Given the description of an element on the screen output the (x, y) to click on. 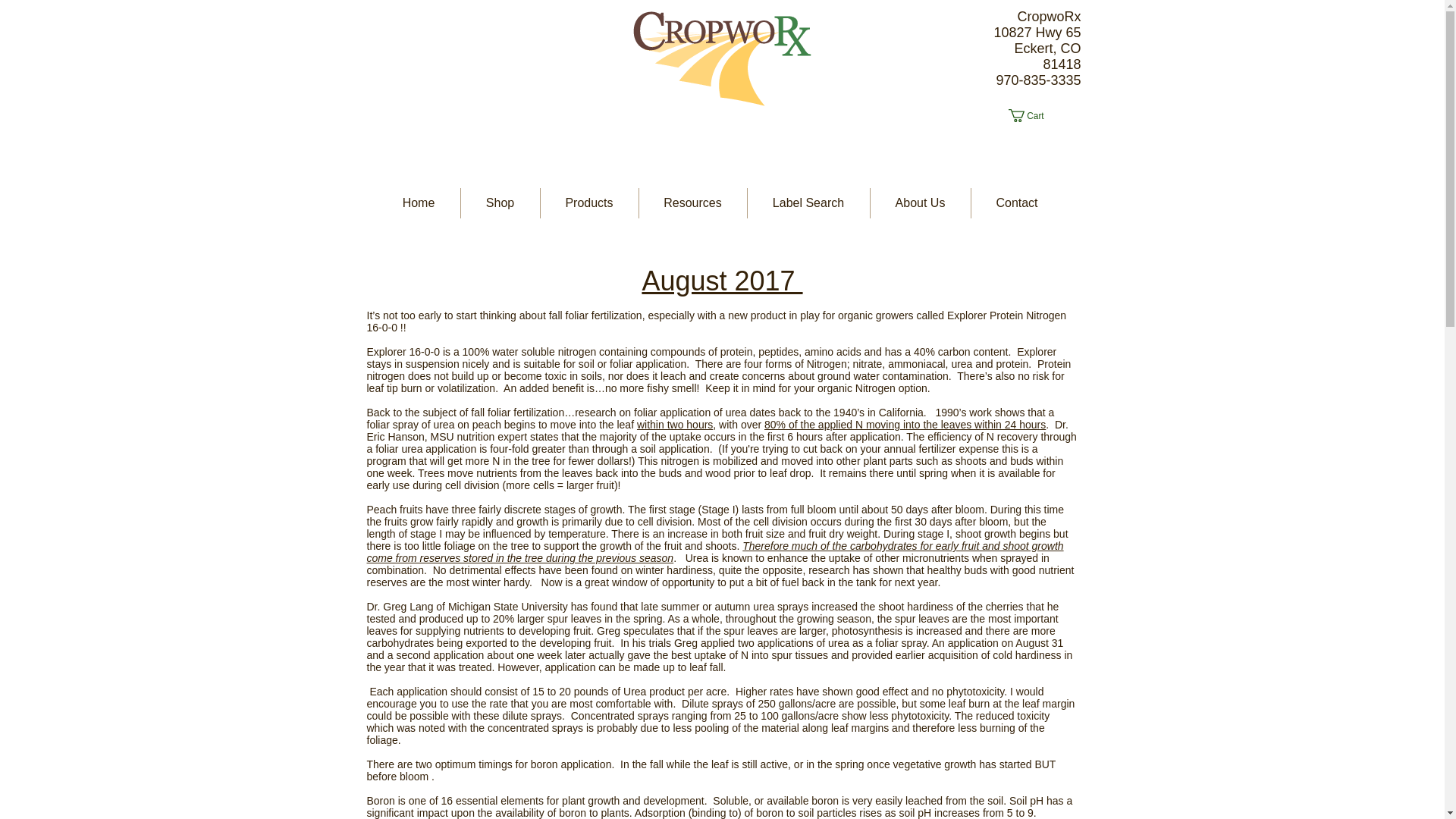
Cart (1033, 115)
Home (418, 203)
Cart (1033, 115)
About Us (920, 203)
Label Search (808, 203)
10827 Hwy 65 (1036, 32)
Products (588, 203)
Shop (500, 203)
CropwoRx (1048, 16)
970-835-3335 (1037, 79)
